Given the description of an element on the screen output the (x, y) to click on. 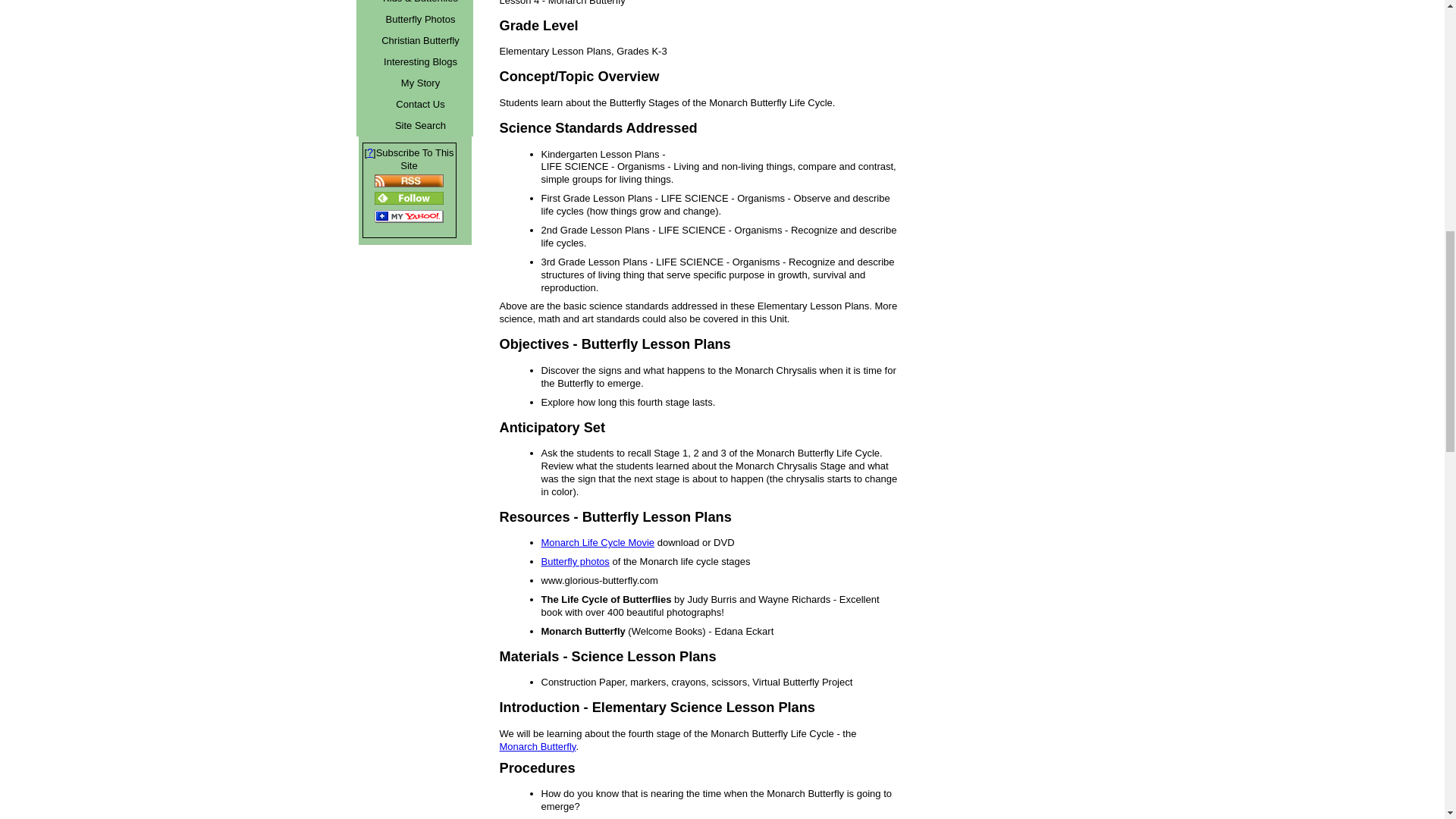
Site Search (420, 125)
My Story (420, 83)
Contact Us (420, 104)
Christian Butterfly (420, 40)
Interesting Blogs (420, 61)
Butterfly Photos (420, 19)
